Given the description of an element on the screen output the (x, y) to click on. 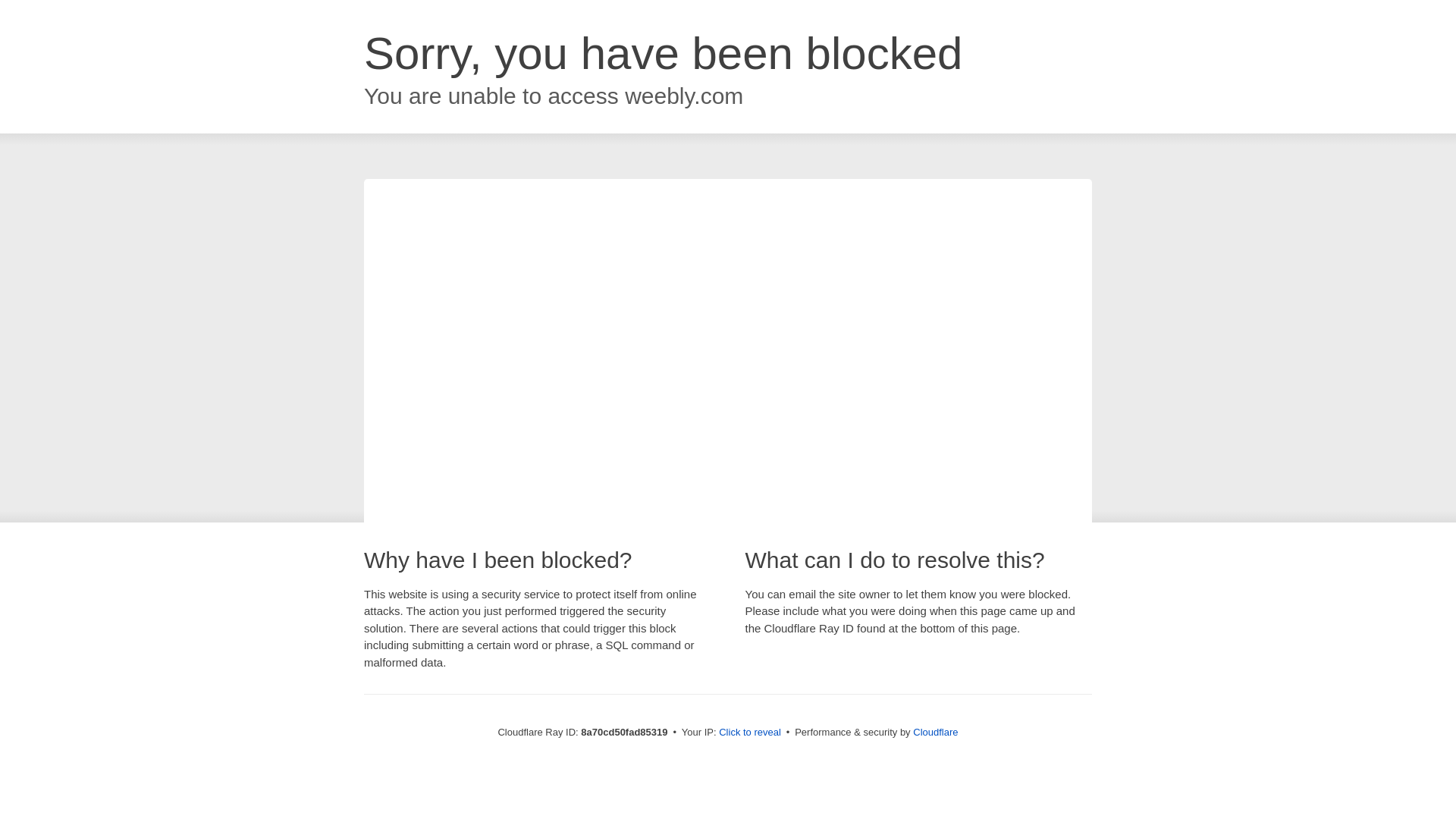
Cloudflare (935, 731)
Click to reveal (749, 732)
